Given the description of an element on the screen output the (x, y) to click on. 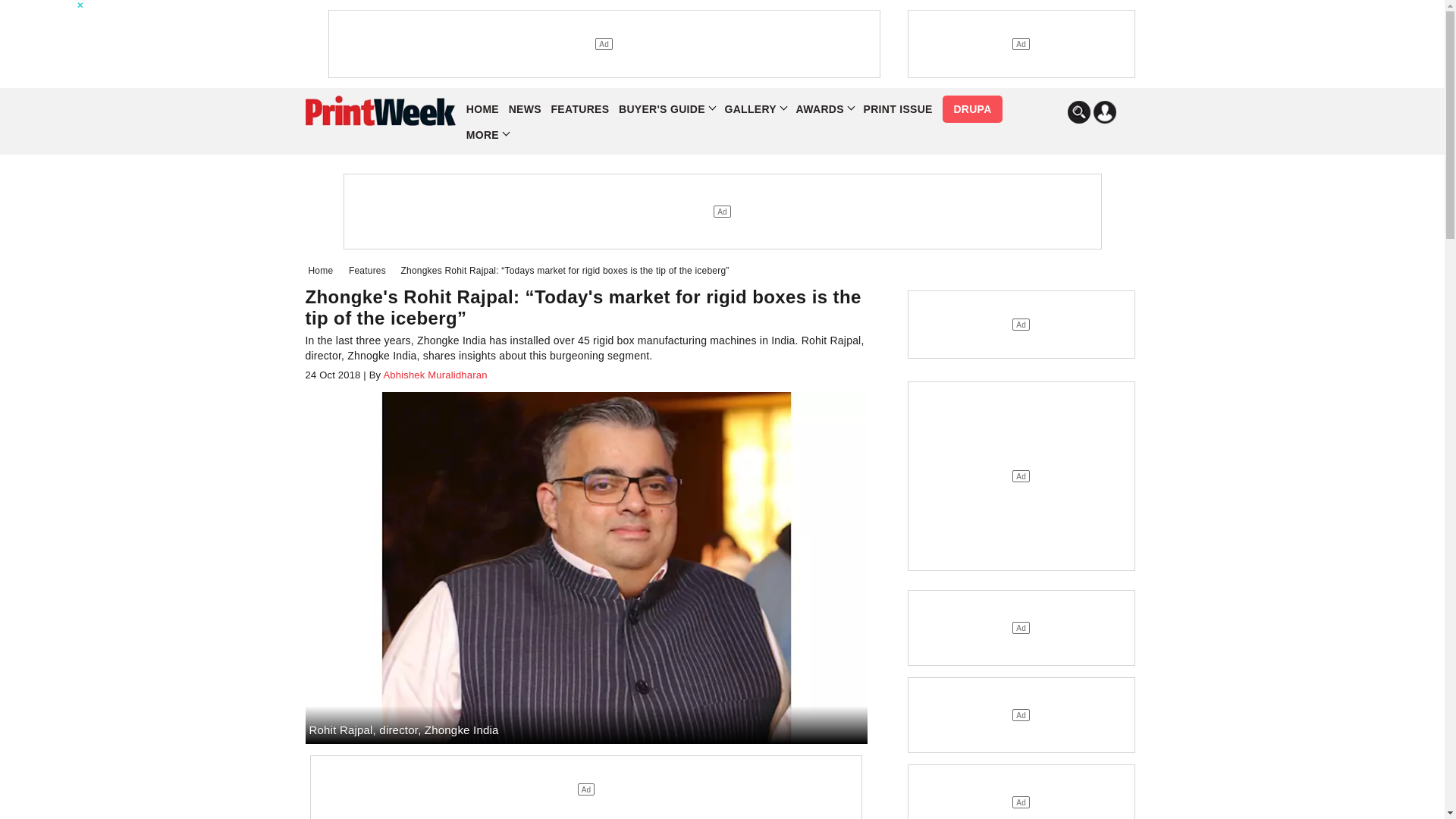
PrintWeek Logo (379, 110)
AWARDS (825, 109)
PRINT ISSUE (897, 109)
Drupa (971, 108)
Buyer's Guide (666, 109)
DRUPA (971, 108)
BUYER'S GUIDE (666, 109)
Abhishek Muralidharan (433, 374)
NEWS (524, 109)
Features (370, 270)
MORE (487, 134)
FEATURES (580, 109)
HOME (482, 109)
Print Issue (897, 109)
GALLERY (754, 109)
